Given the description of an element on the screen output the (x, y) to click on. 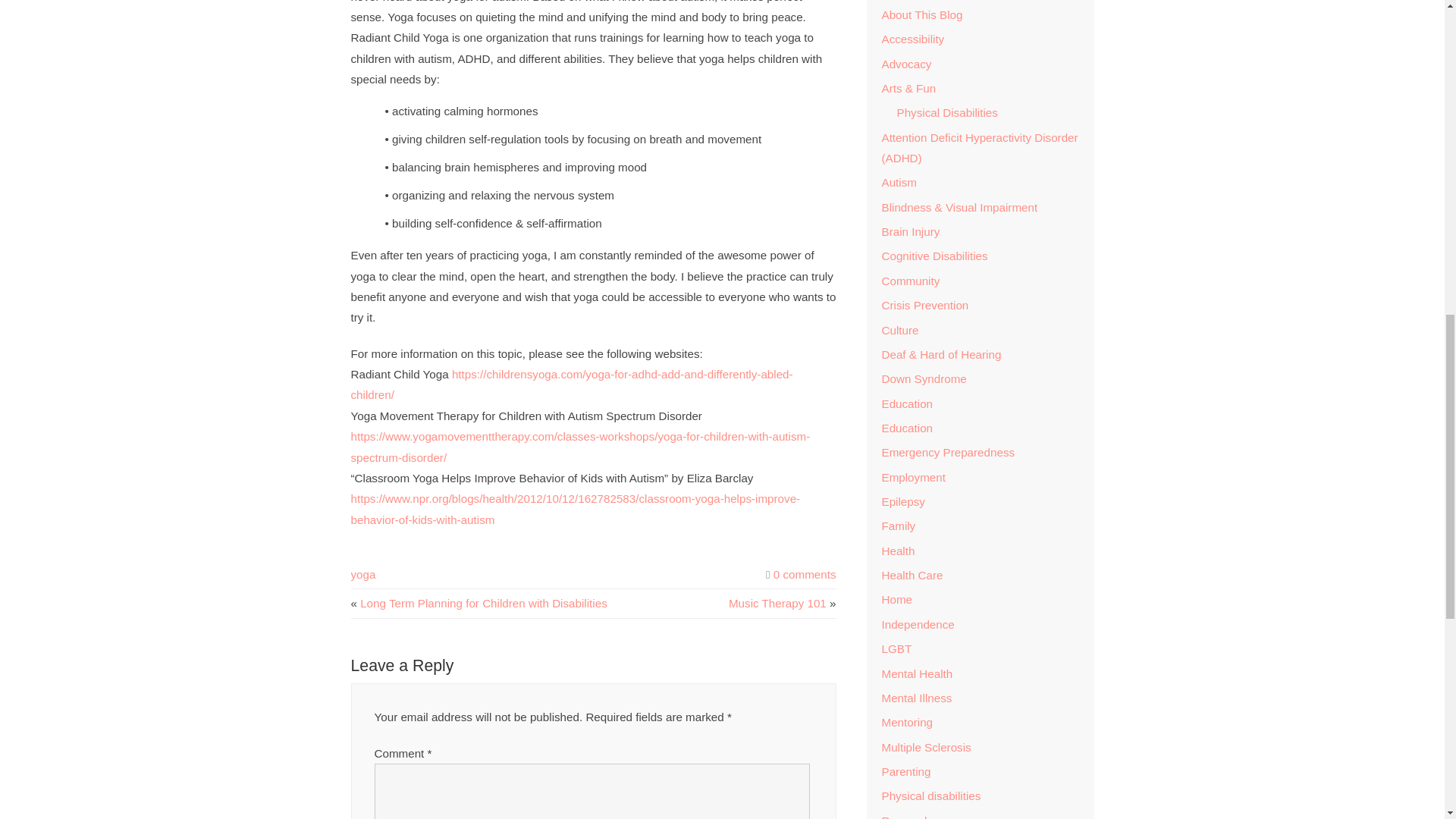
Autism (897, 182)
Physical Disabilities (946, 112)
Brain Injury (909, 231)
yoga (362, 574)
Crisis Prevention (924, 305)
Long Term Planning for Children with Disabilities (483, 603)
Advocacy (905, 63)
Accessibility (911, 38)
Music Therapy 101 (778, 603)
0 comments (804, 574)
